Given the description of an element on the screen output the (x, y) to click on. 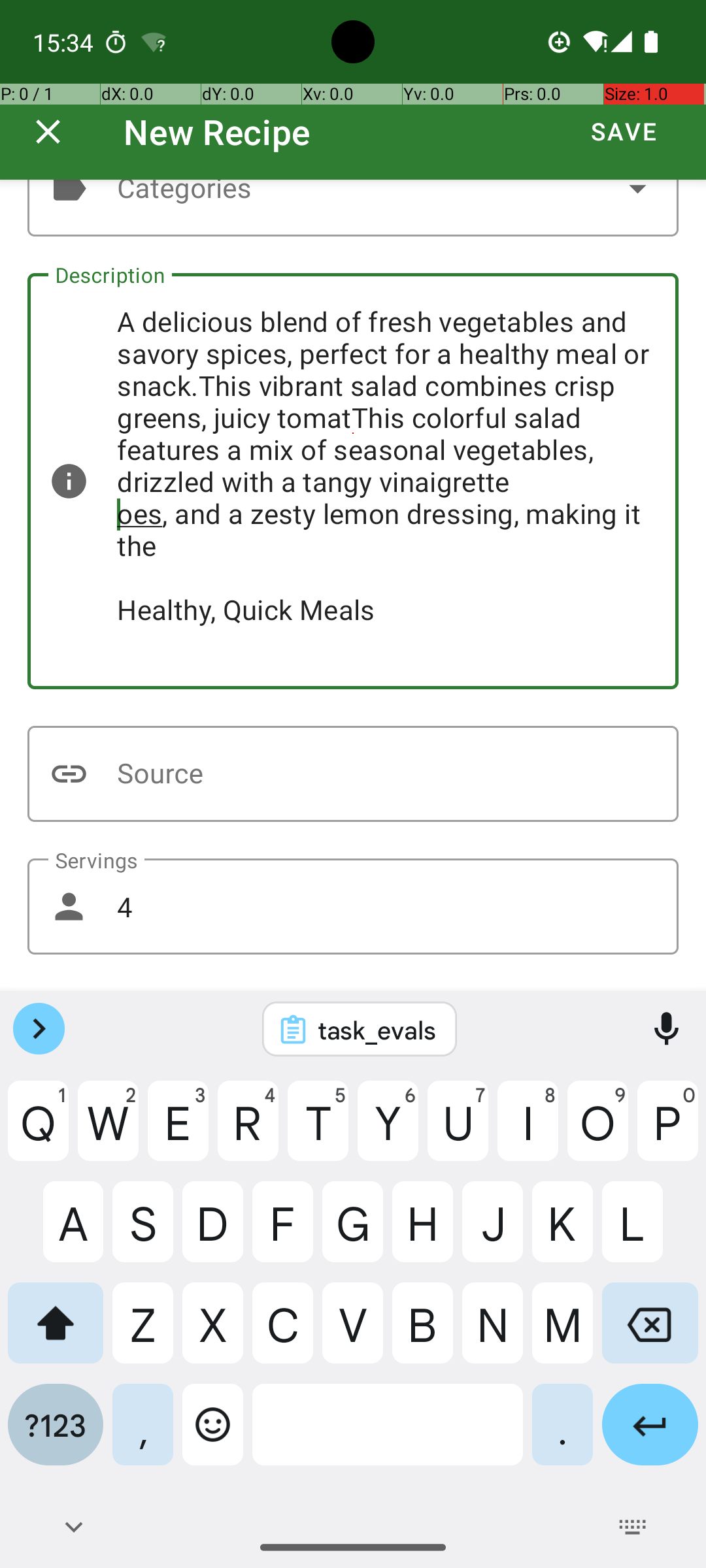
A delicious blend of fresh vegetables and savory spices, perfect for a healthy meal or snack.This vibrant salad combines crisp greens, juicy tomatThis colorful salad features a mix of seasonal vegetables, drizzled with a tangy vinaigrette
oes, and a zesty lemon dressing, making it the

Healthy, Quick Meals
 Element type: android.widget.EditText (352, 481)
task_evals Element type: android.widget.TextView (376, 1029)
